Given the description of an element on the screen output the (x, y) to click on. 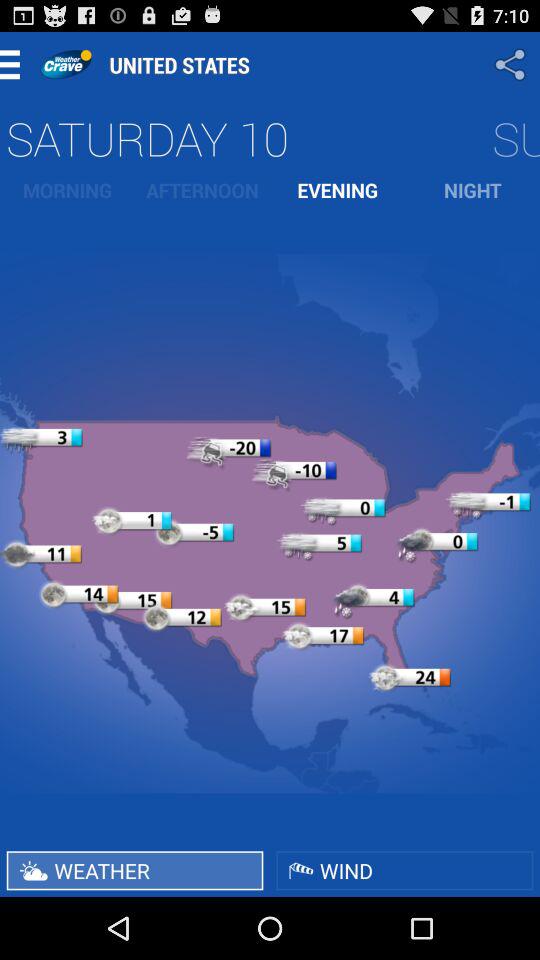
tap the app above the saturday 10 app (512, 64)
